Given the description of an element on the screen output the (x, y) to click on. 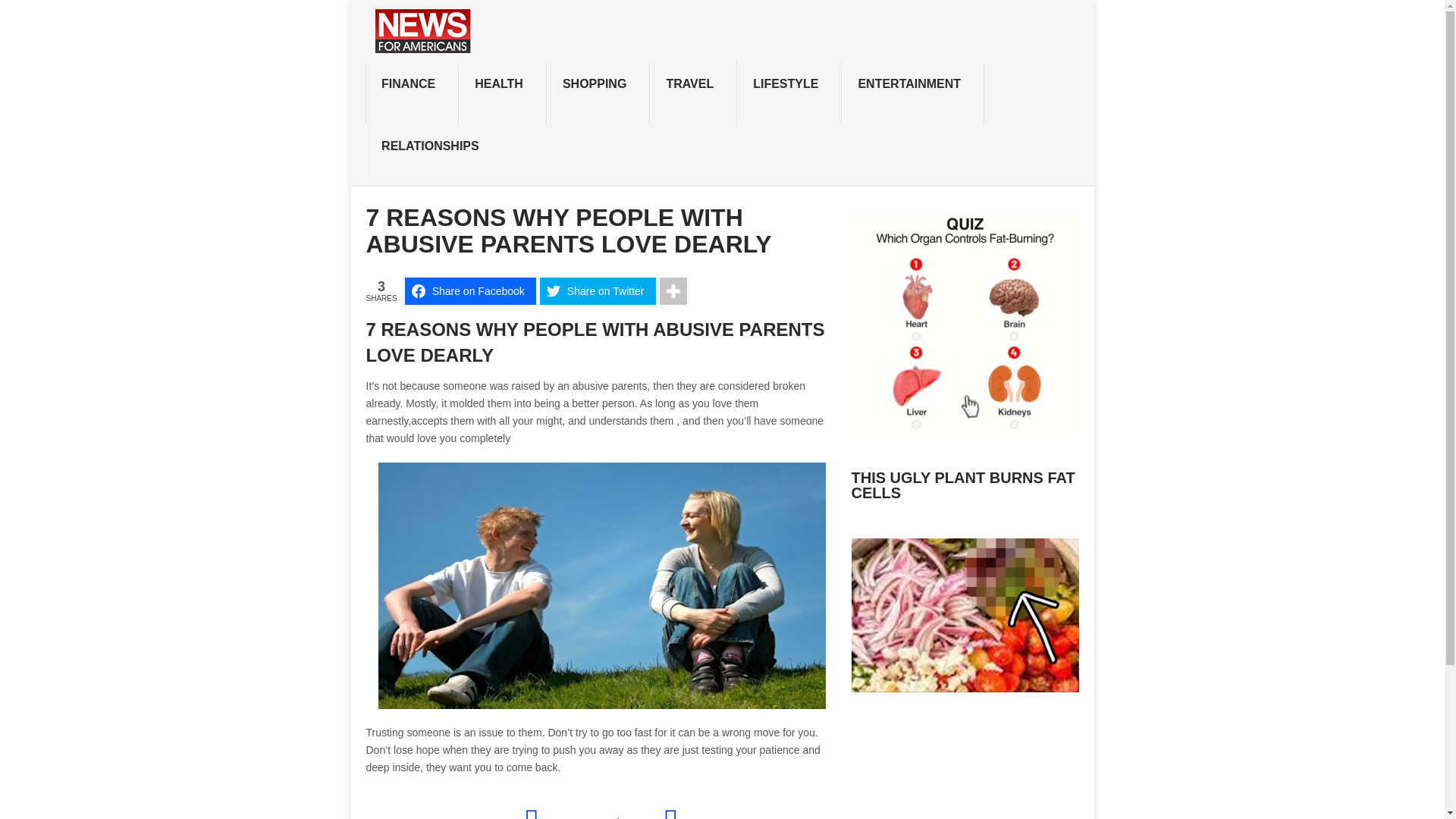
Share on Share on Facebook (469, 290)
Share on Facebook (469, 290)
Share on More Button (673, 290)
SHOPPING (598, 93)
LIFESTYLE (788, 93)
Prev post (559, 811)
livpure (964, 431)
TRAVEL (692, 93)
FINANCE (411, 93)
ENTERTAINMENT (912, 93)
HEALTH (502, 93)
Share on Twitter (598, 290)
RELATIONSHIPS (433, 155)
Share on Share on Twitter (598, 290)
PURA (964, 684)
